Given the description of an element on the screen output the (x, y) to click on. 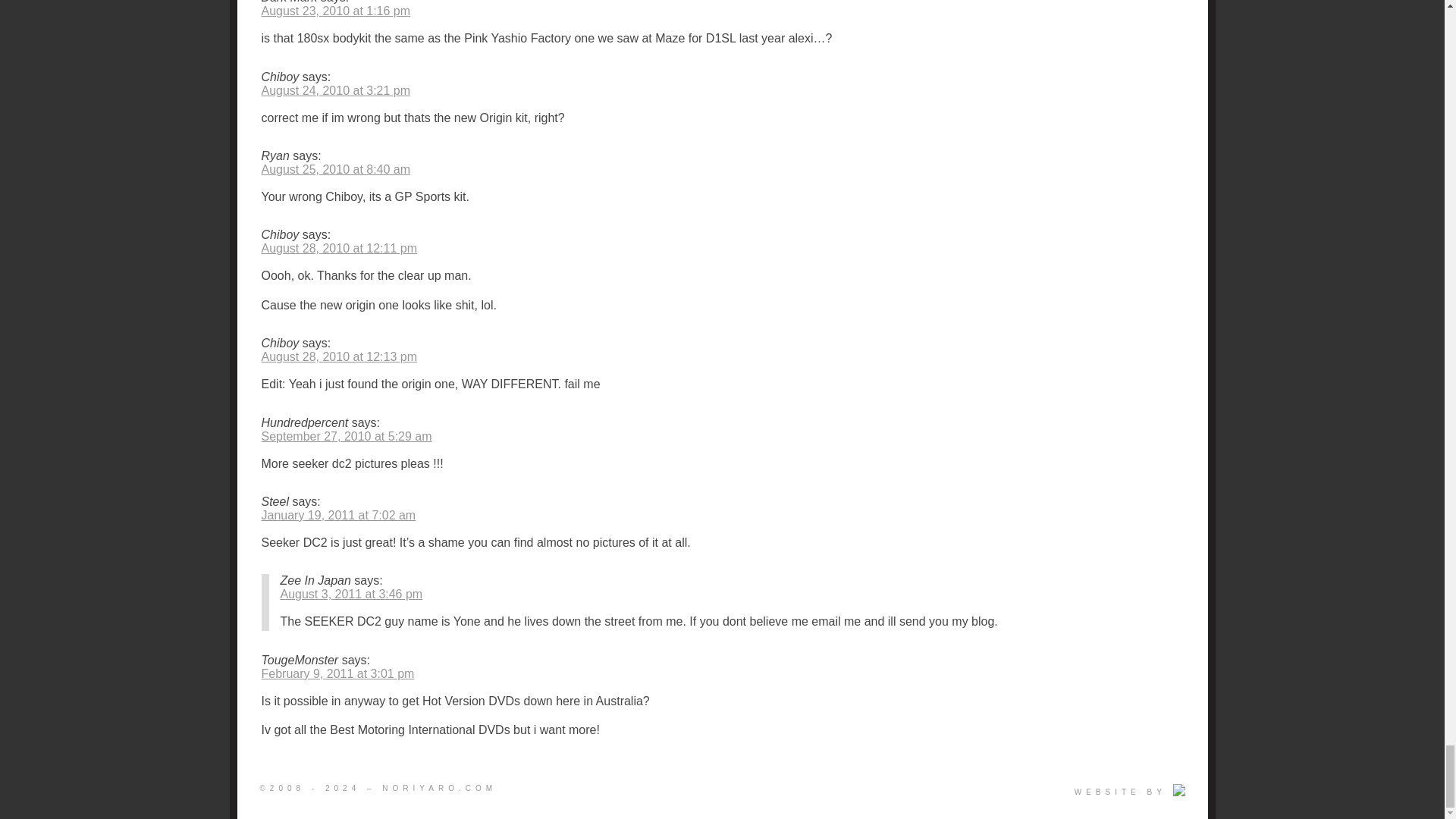
August 23, 2010 at 1:16 pm (335, 10)
August 25, 2010 at 8:40 am (335, 169)
August 24, 2010 at 3:21 pm (335, 90)
August 28, 2010 at 12:11 pm (338, 247)
